Given the description of an element on the screen output the (x, y) to click on. 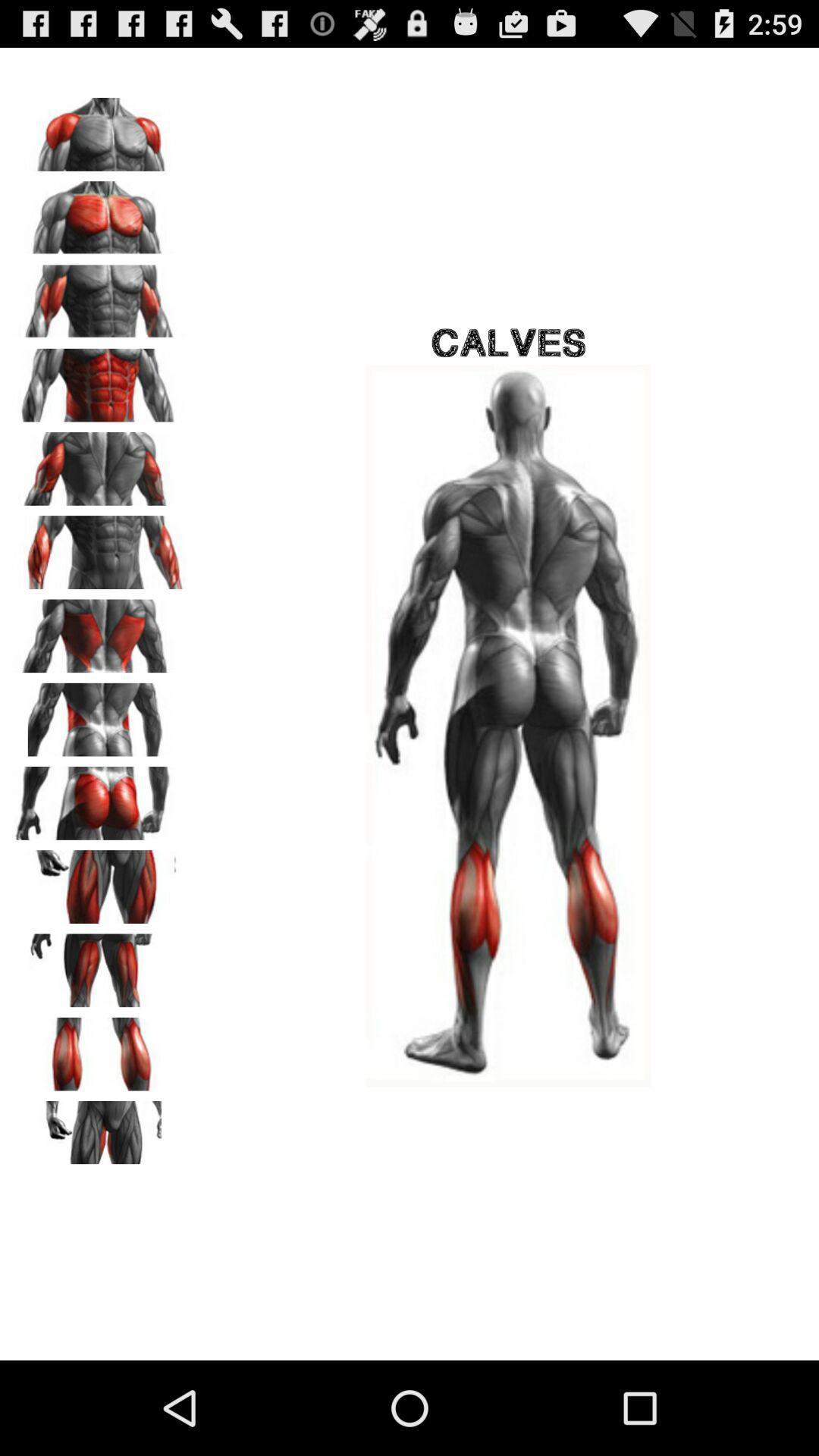
this image was cheast (99, 212)
